Given the description of an element on the screen output the (x, y) to click on. 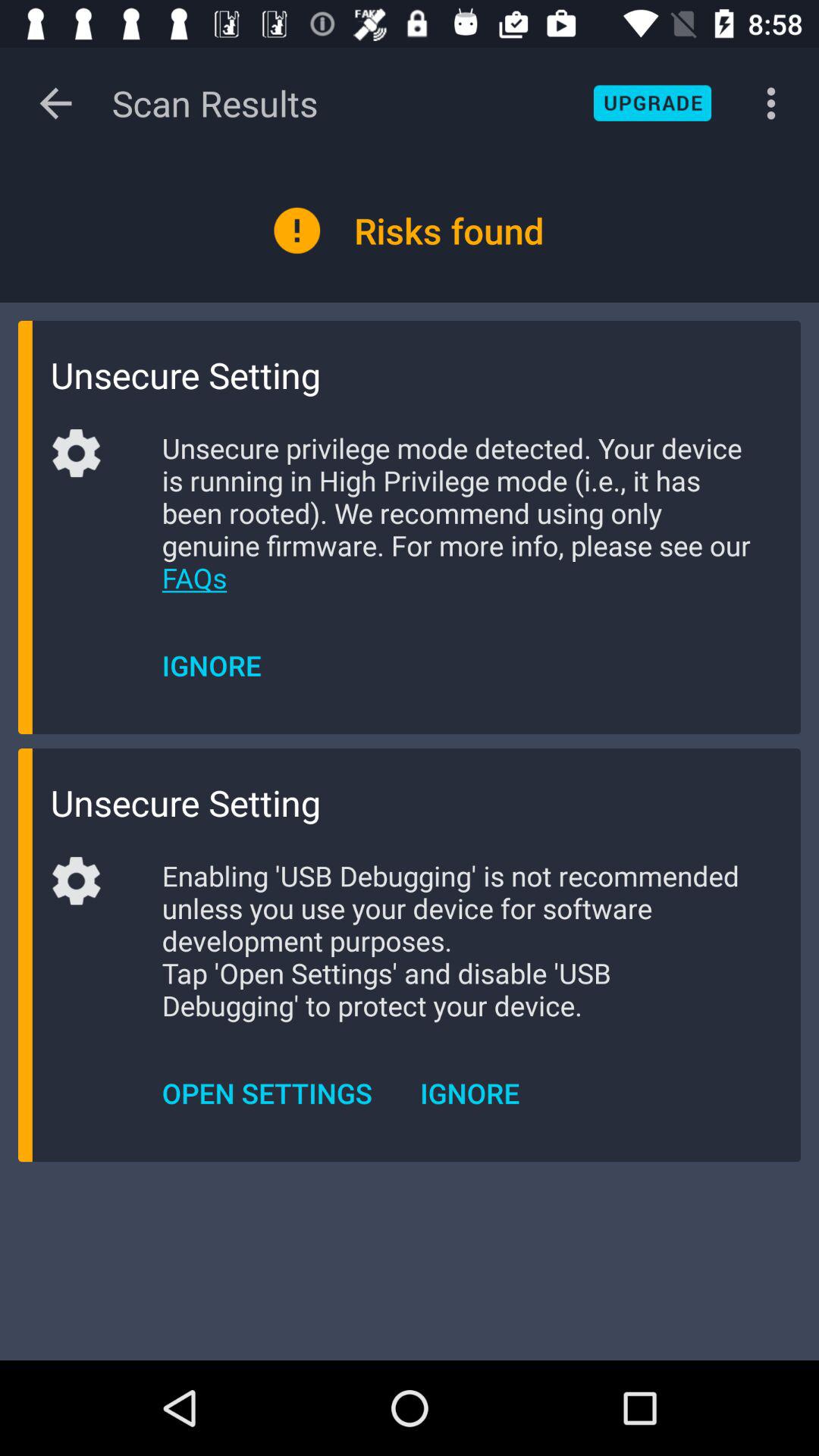
jump to the unsecure privilege mode icon (458, 512)
